Given the description of an element on the screen output the (x, y) to click on. 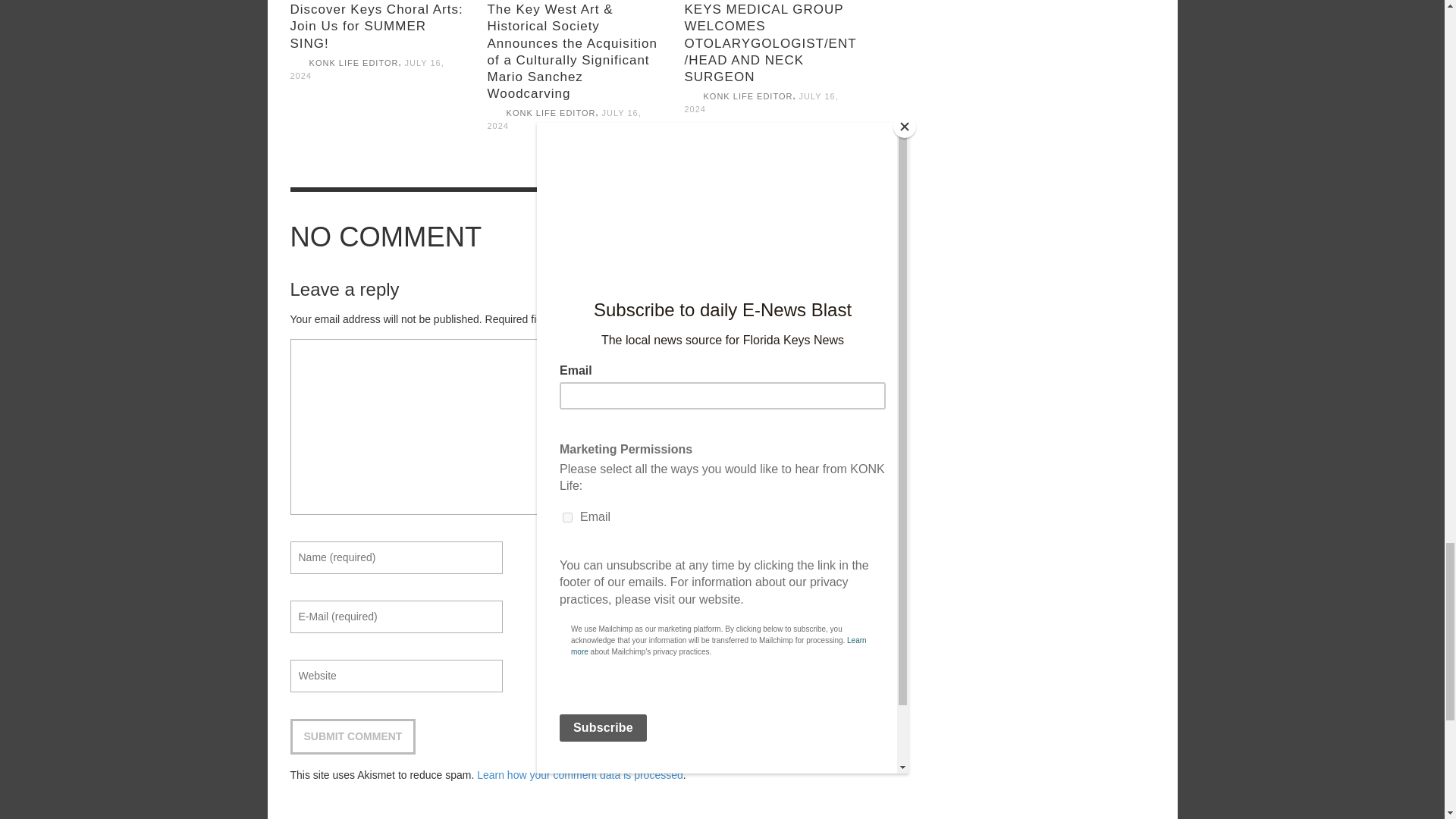
Submit comment (351, 736)
